Given the description of an element on the screen output the (x, y) to click on. 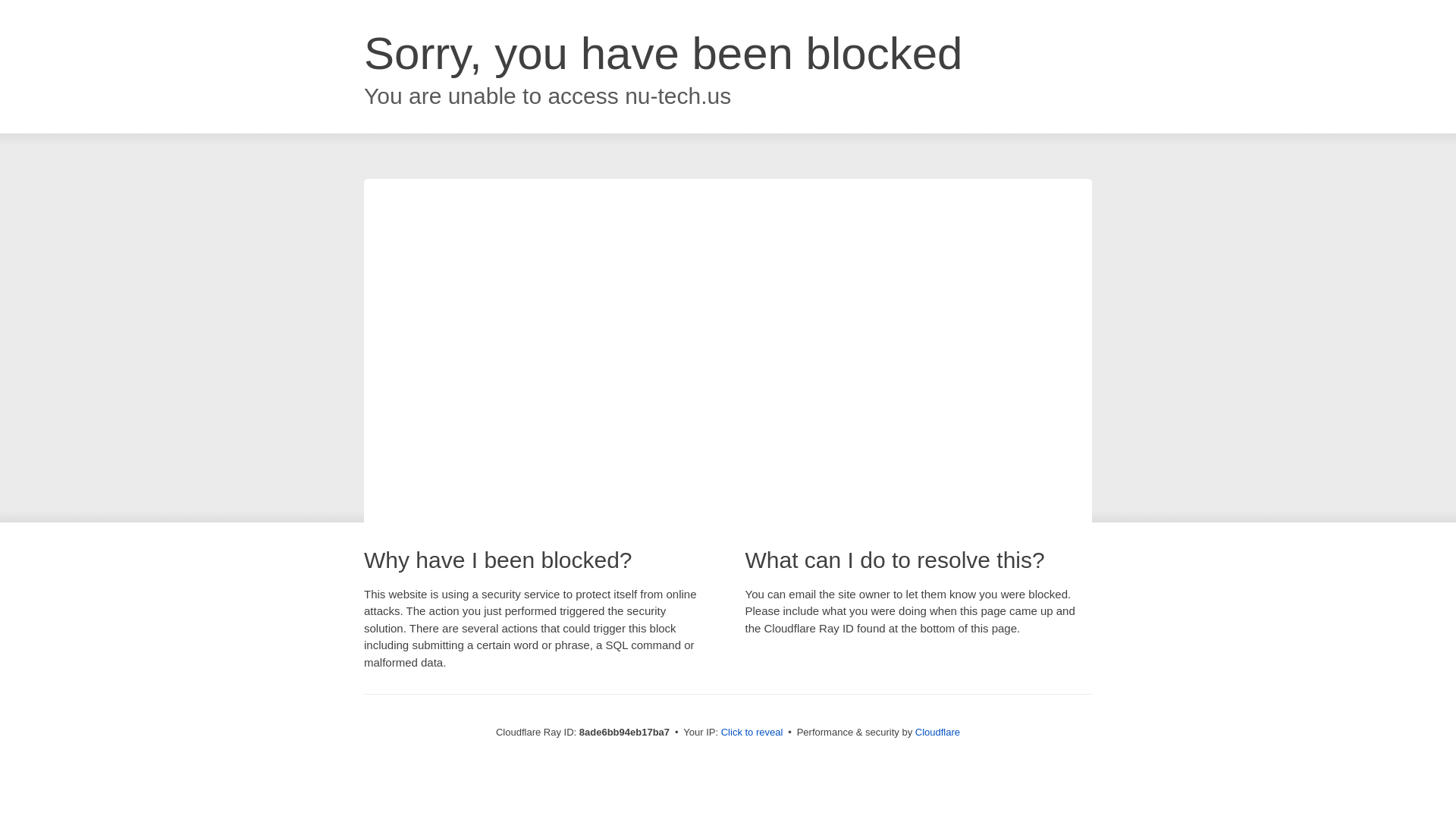
Click to reveal (751, 732)
Cloudflare (937, 731)
